Given the description of an element on the screen output the (x, y) to click on. 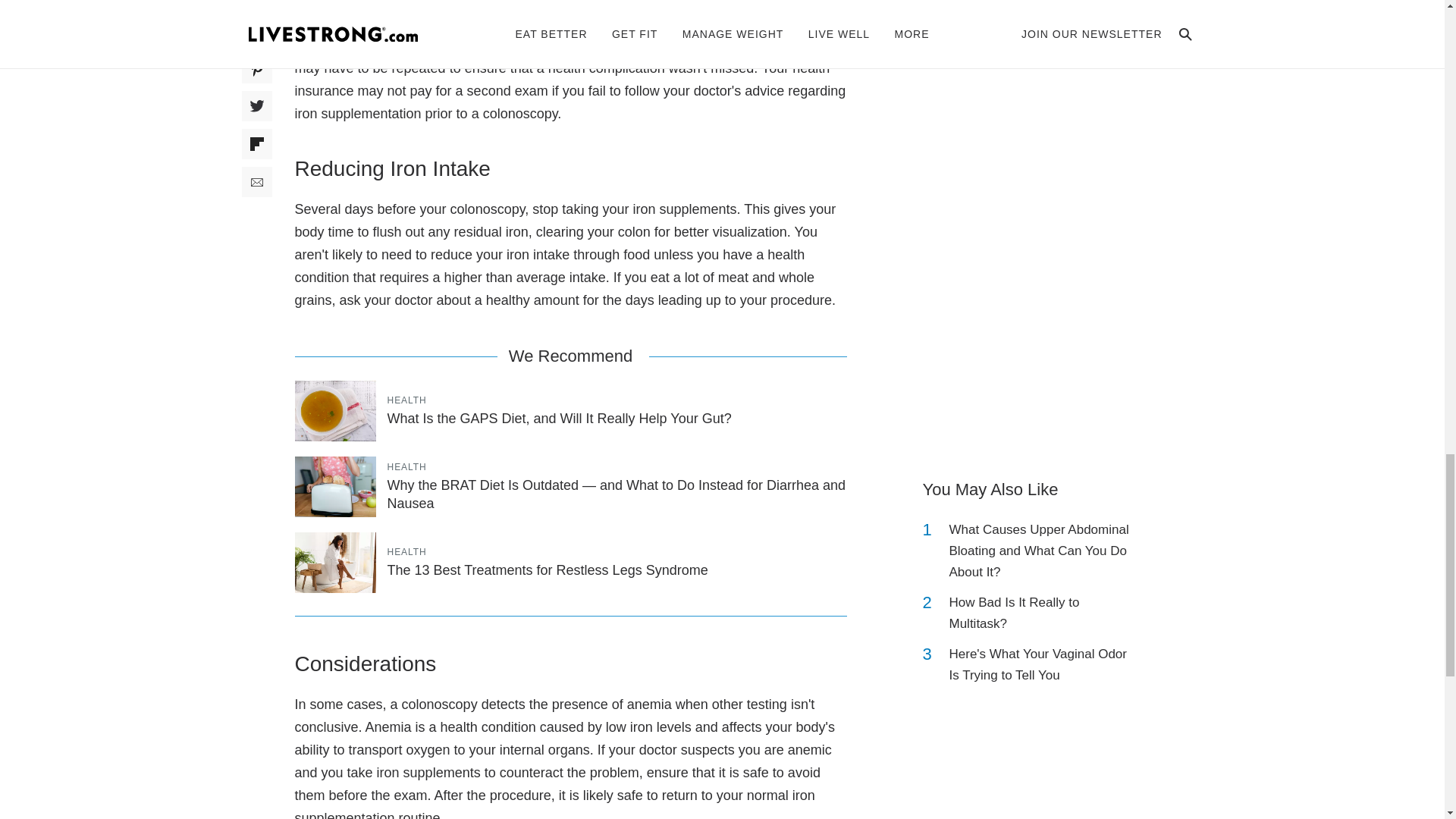
How Bad Is It Really to Multitask? (1042, 613)
What Is the GAPS Diet, and Will It Really Help Your Gut? (558, 418)
Here's What Your Vaginal Odor Is Trying to Tell You (1042, 664)
The 13 Best Treatments for Restless Legs Syndrome (547, 570)
